Given the description of an element on the screen output the (x, y) to click on. 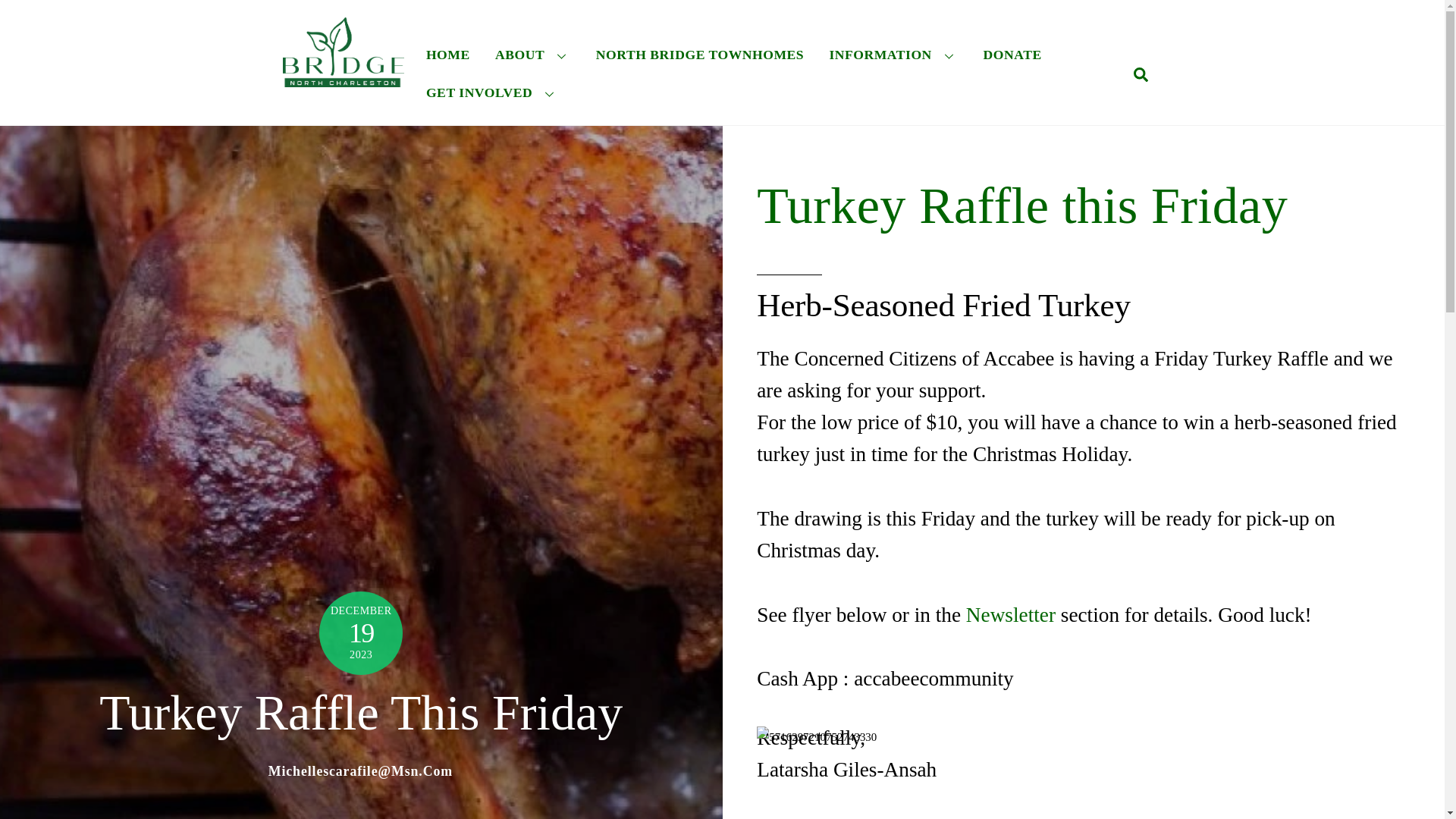
Turkey Raffle This Friday (361, 712)
INFORMATION (893, 55)
GET INVOLVED (491, 93)
NORTH BRIDGE TOWNHOMES (699, 55)
Bridge North Charleston (342, 76)
Newsletter (1010, 614)
HOME (447, 55)
ABOUT (532, 55)
Search (1140, 73)
DONATE (1012, 55)
5716297210752743330 (1083, 772)
